Given the description of an element on the screen output the (x, y) to click on. 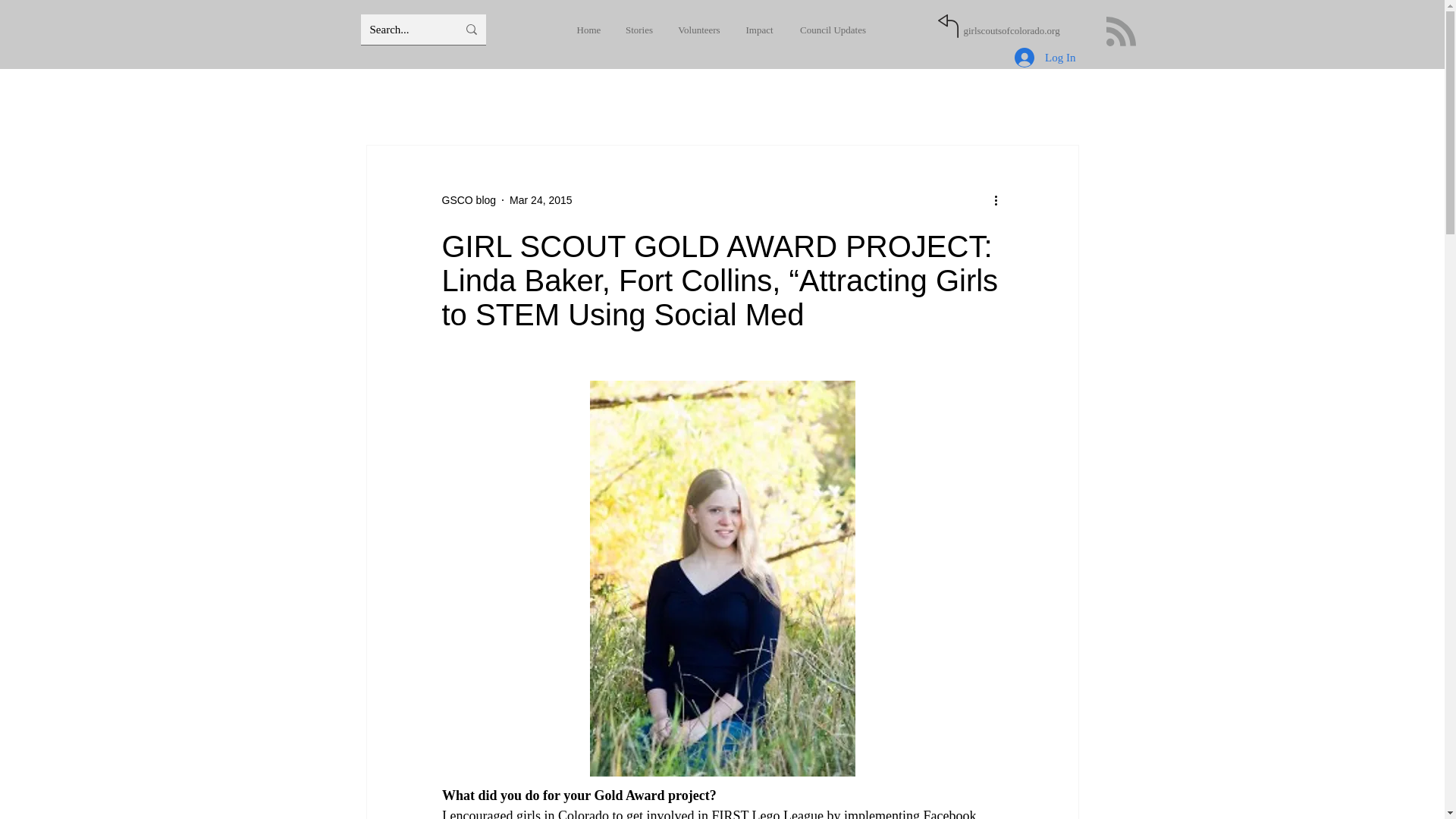
Impact (759, 29)
Volunteers (699, 29)
GSCO blog (468, 200)
GSCO blog (468, 200)
girlscoutsofcolorado.org (1010, 30)
Log In (1045, 57)
Home (588, 29)
Mar 24, 2015 (540, 200)
Stories (638, 29)
Council Updates (832, 29)
